Given the description of an element on the screen output the (x, y) to click on. 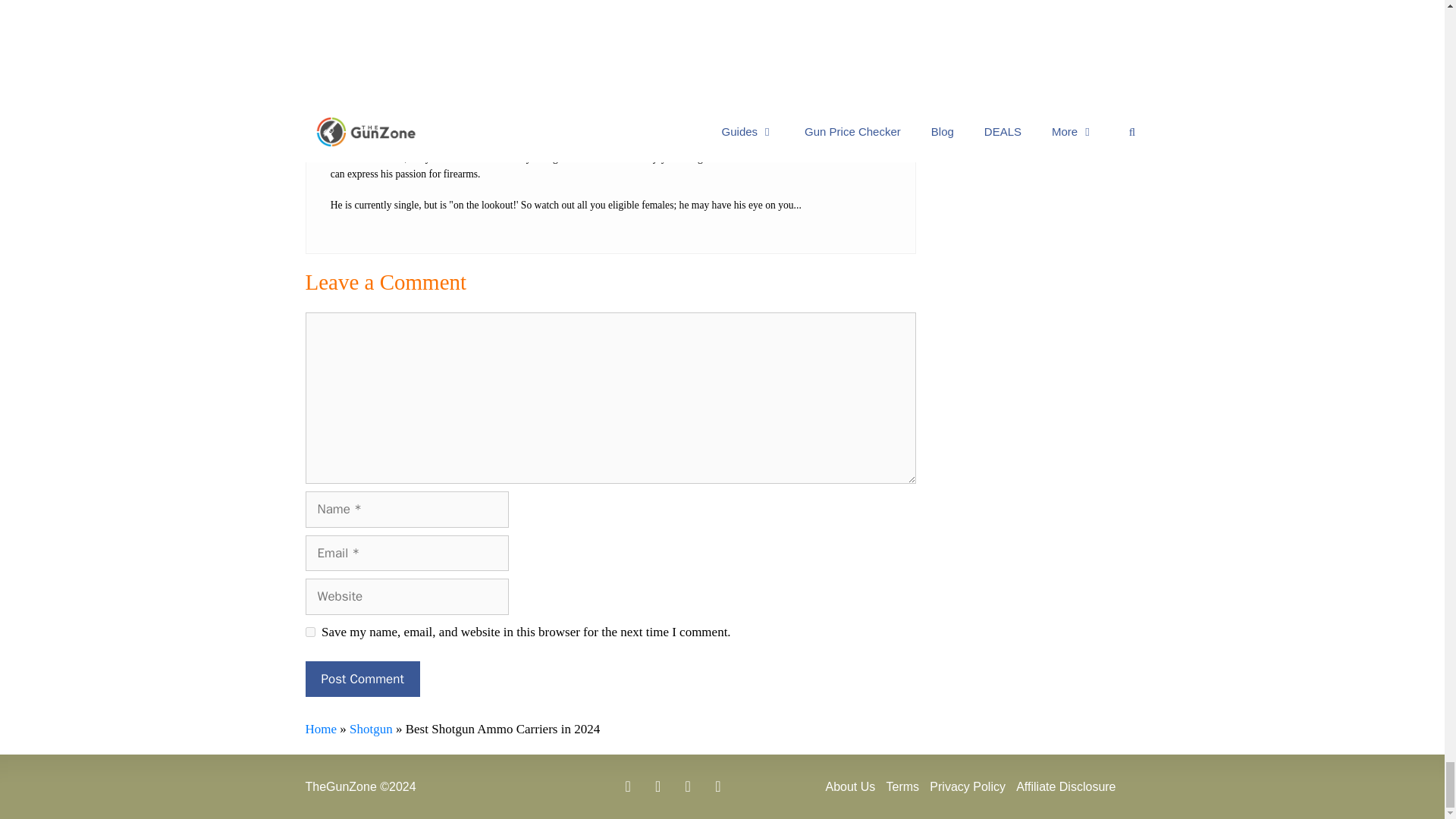
yes (309, 632)
Post Comment (361, 678)
